Given the description of an element on the screen output the (x, y) to click on. 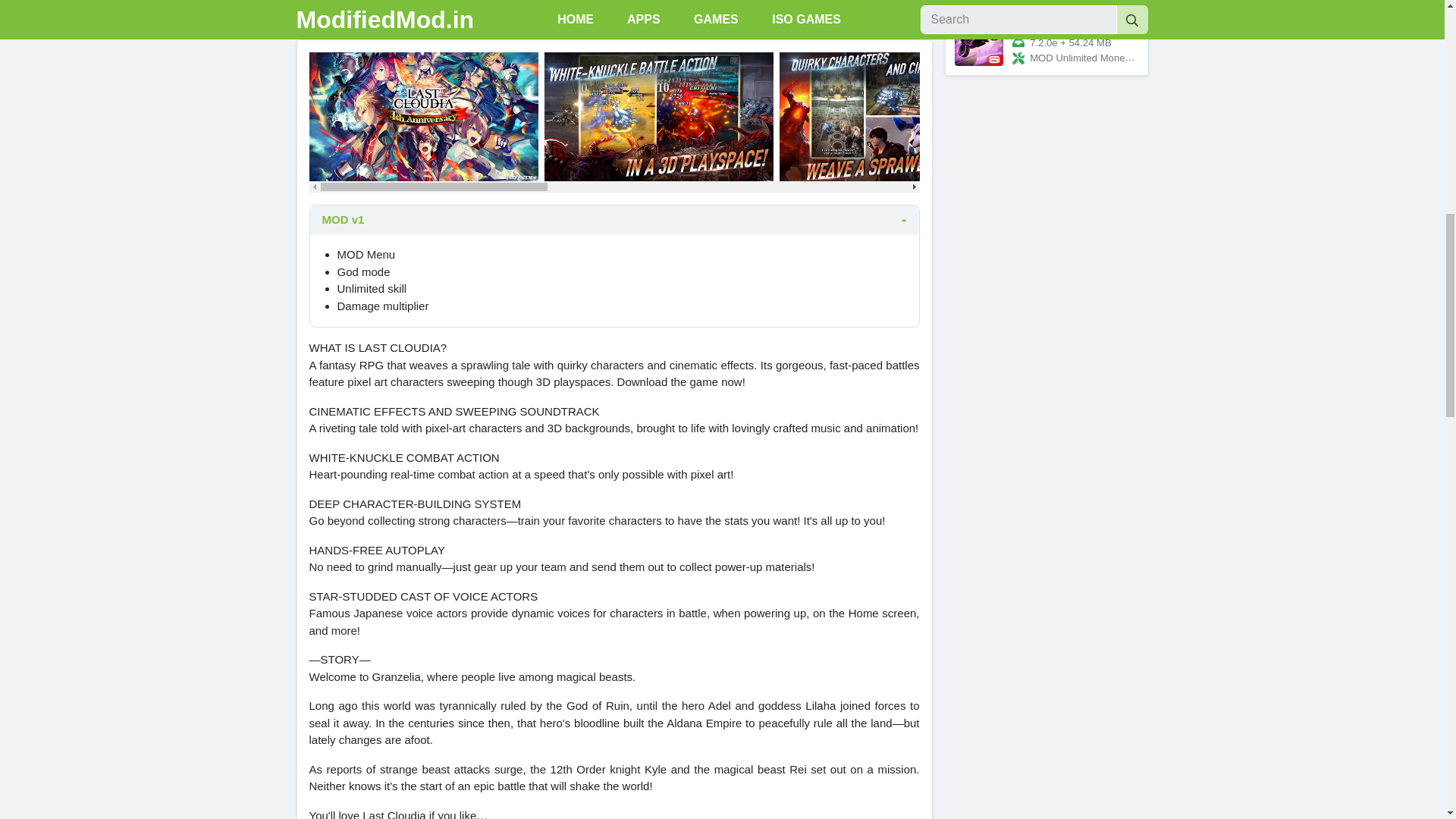
MOD v1 (613, 220)
Advertisement (613, 4)
